Given the description of an element on the screen output the (x, y) to click on. 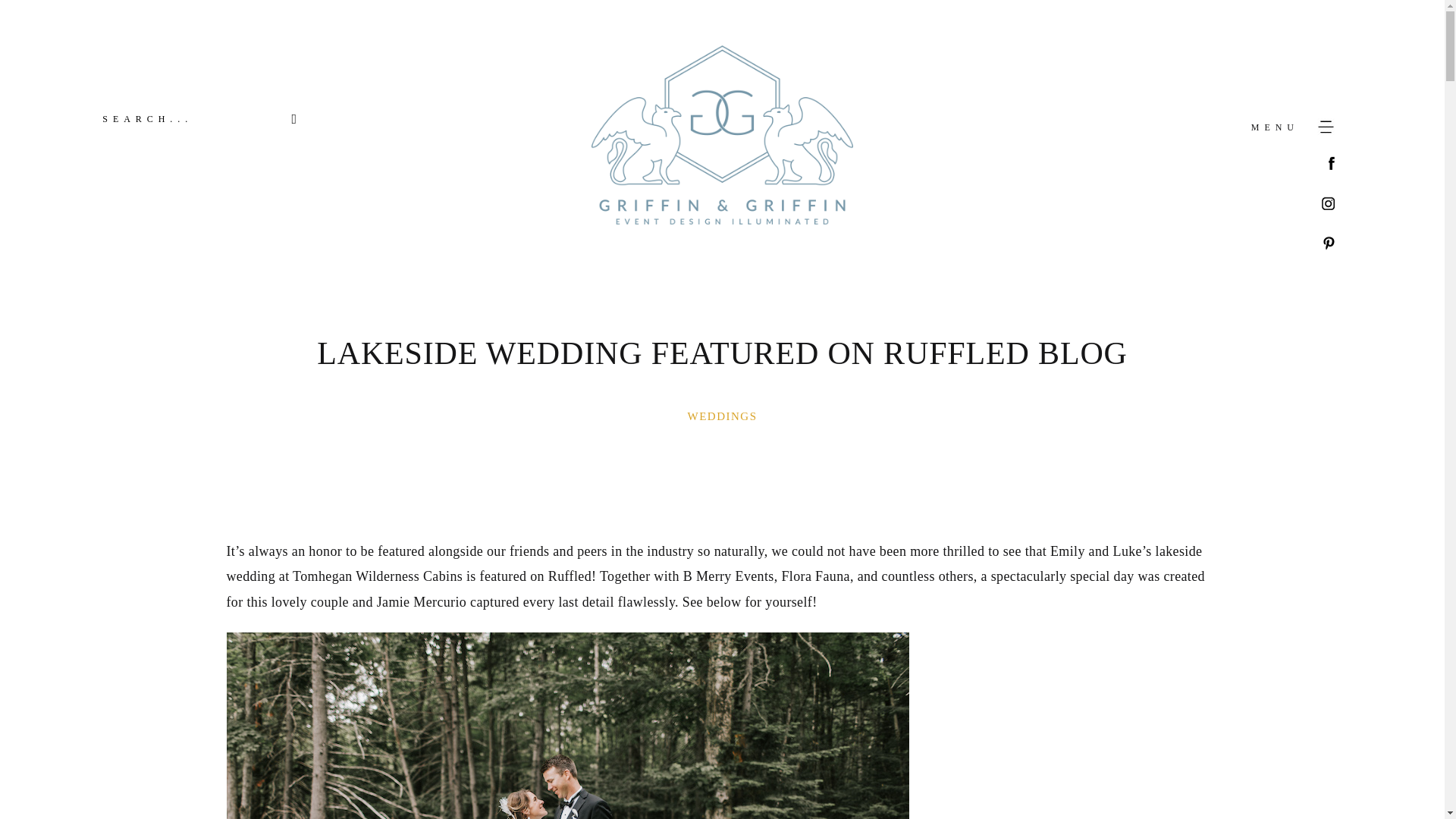
WEDDINGS (722, 416)
